Given the description of an element on the screen output the (x, y) to click on. 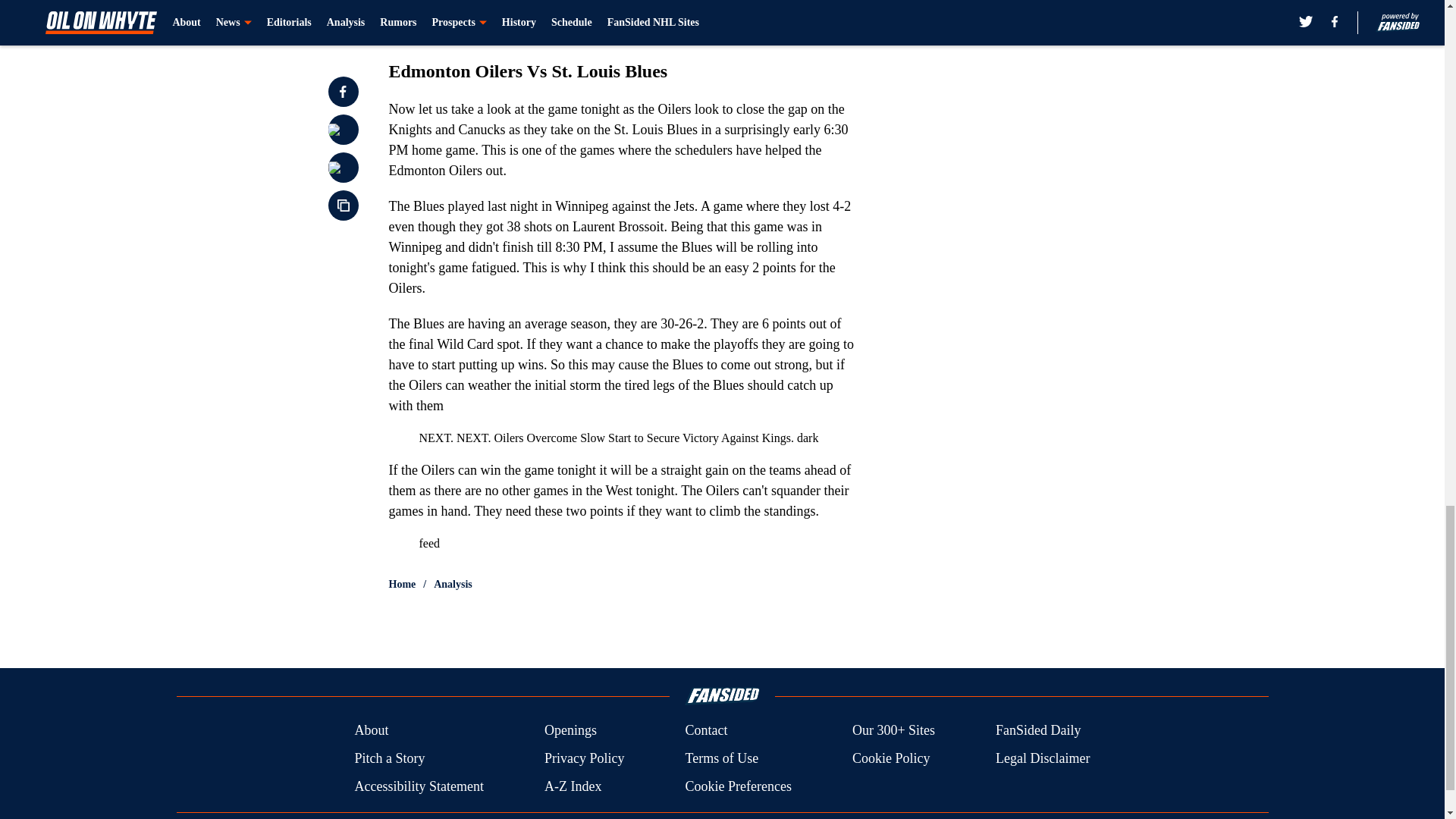
Home (401, 584)
Legal Disclaimer (1042, 758)
Pitch a Story (389, 758)
About (370, 730)
Cookie Policy (890, 758)
Openings (570, 730)
Oilers 13 points back (514, 32)
FanSided Daily (1038, 730)
Cookie Preferences (737, 786)
Contact (705, 730)
